Given the description of an element on the screen output the (x, y) to click on. 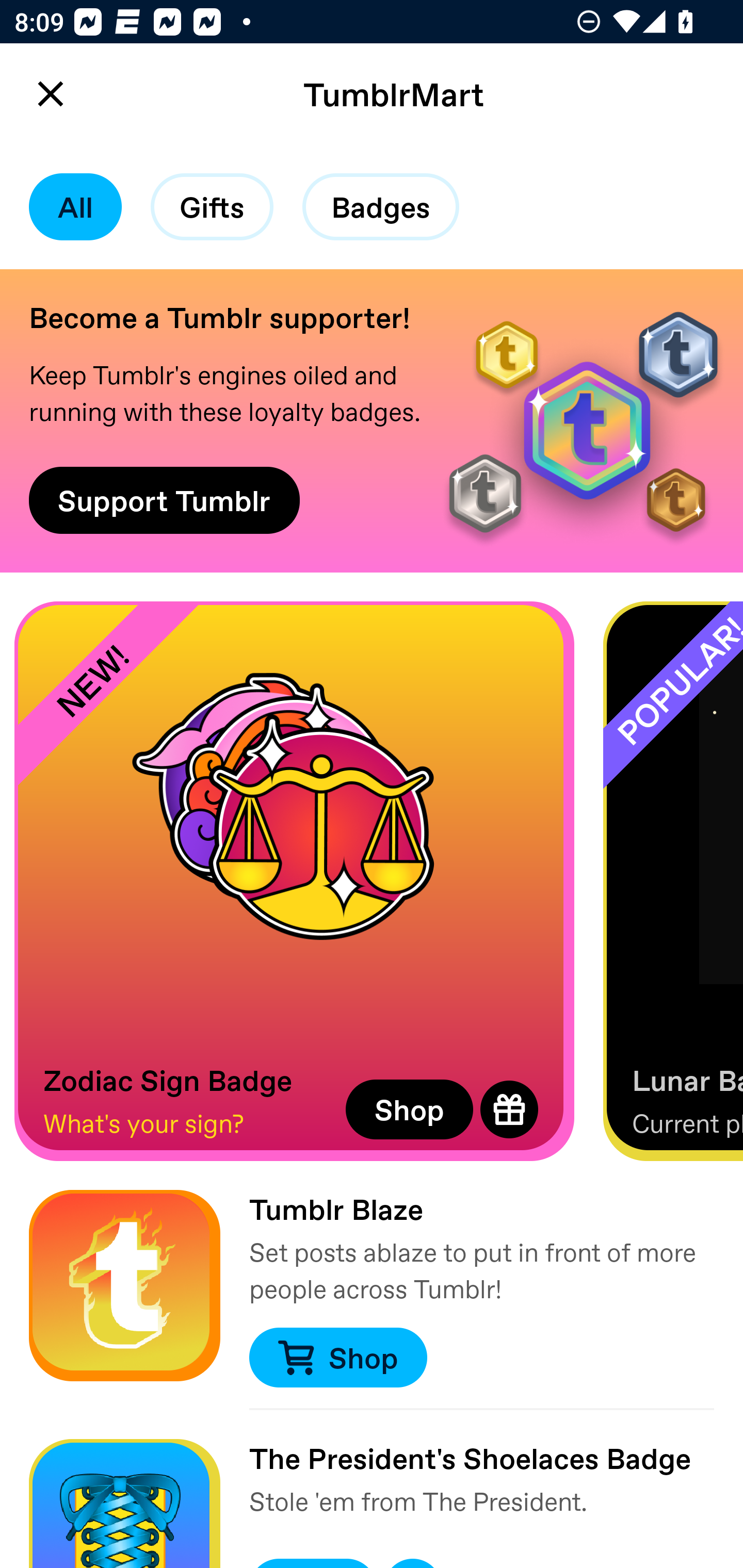
All (74, 206)
Gifts (211, 206)
Badges (380, 206)
Support Tumblr (163, 500)
NEW! Zodiac Sign Badge What's your sign? Shop (294, 881)
Shop (409, 1108)
Shop (337, 1357)
